Given the description of an element on the screen output the (x, y) to click on. 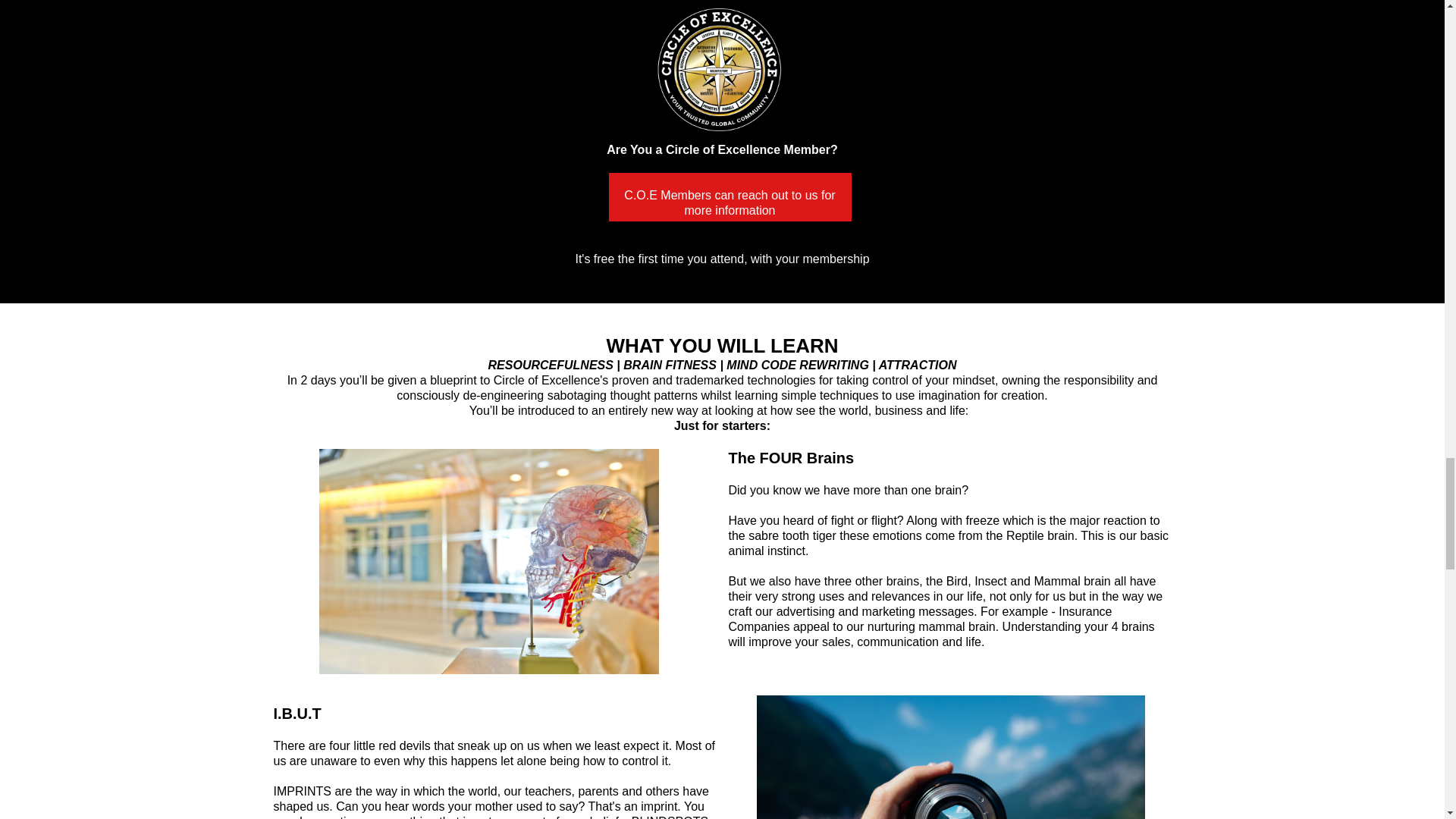
C.O.E Members can reach out to us for more information (729, 196)
